Given the description of an element on the screen output the (x, y) to click on. 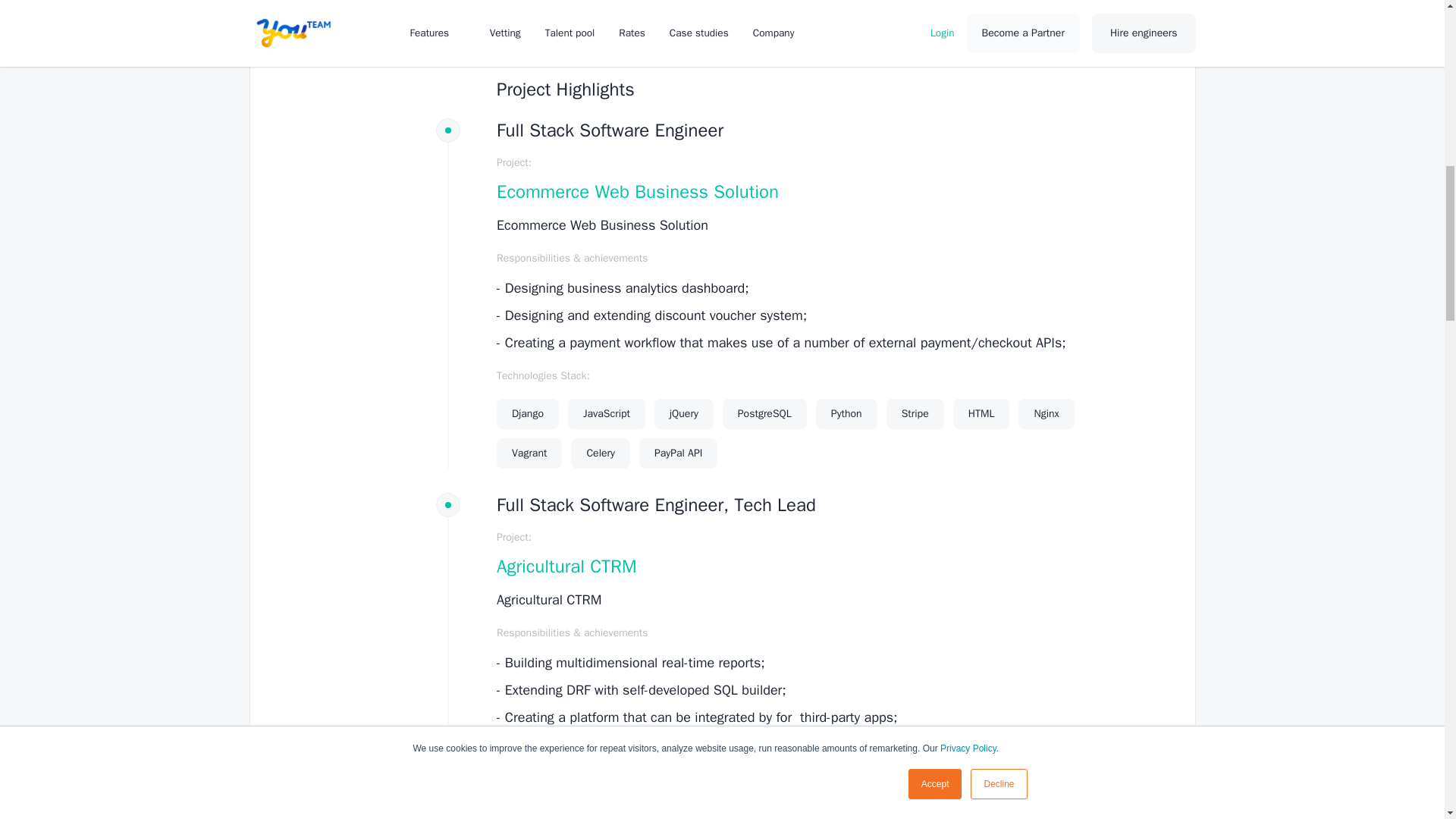
Check if Yurii is available (1003, 14)
